Given the description of an element on the screen output the (x, y) to click on. 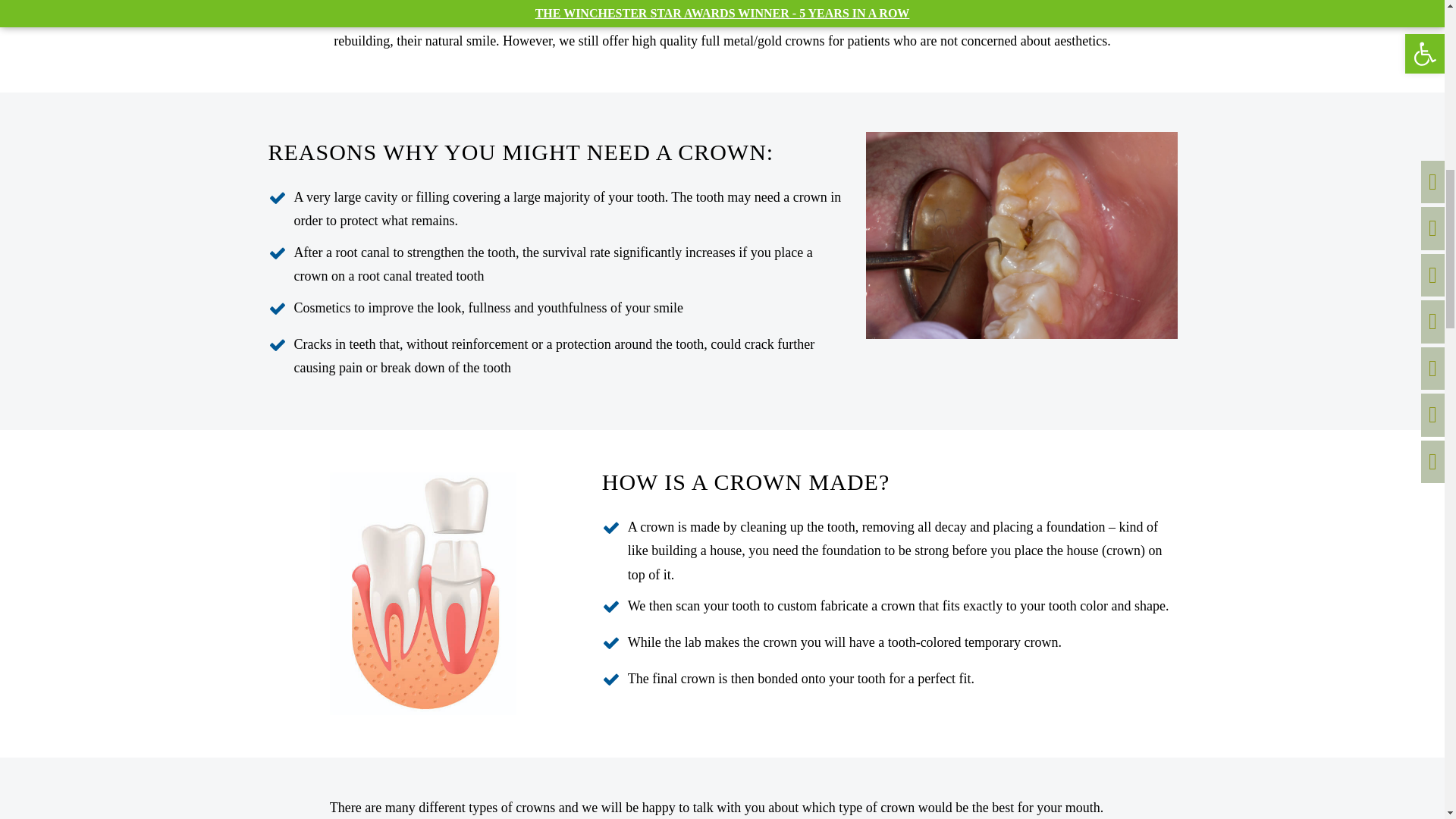
cracked tooth2 (1021, 235)
